Given the description of an element on the screen output the (x, y) to click on. 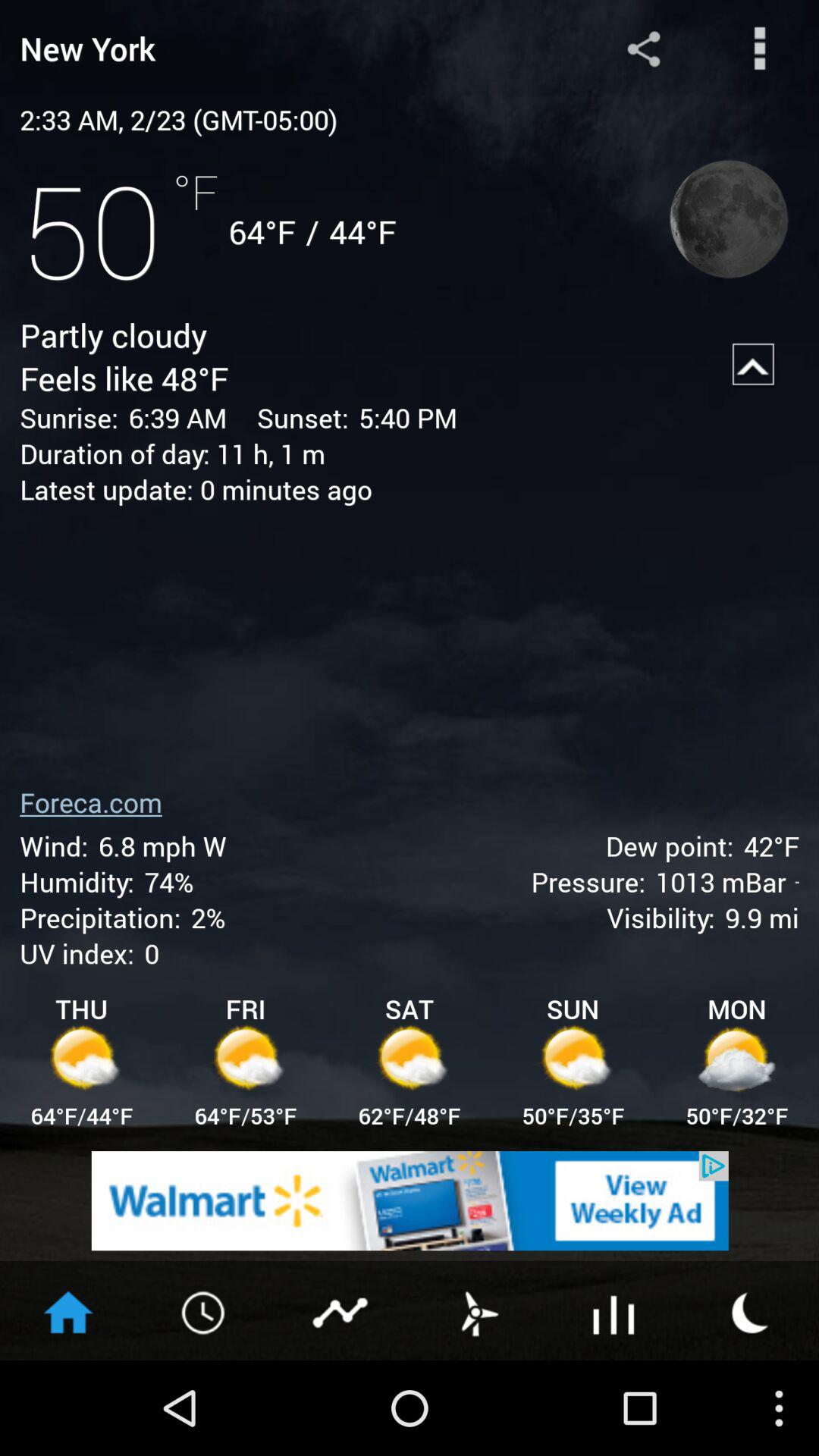
share (643, 48)
